Given the description of an element on the screen output the (x, y) to click on. 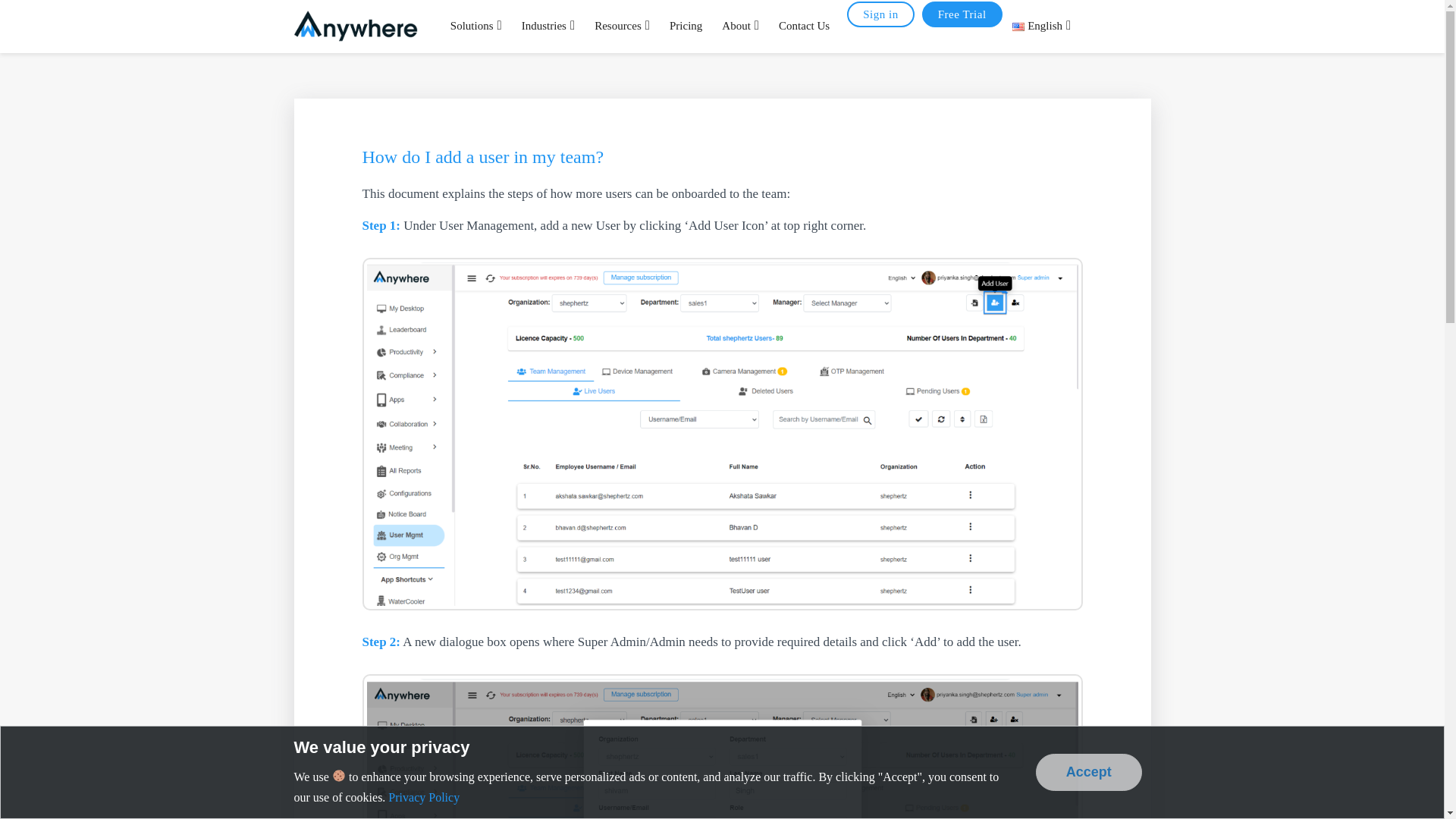
Resources (621, 26)
Solutions (475, 26)
Sign in (880, 14)
English (1041, 26)
Industries (548, 26)
Free Trial (962, 14)
Contact Us (803, 26)
